Given the description of an element on the screen output the (x, y) to click on. 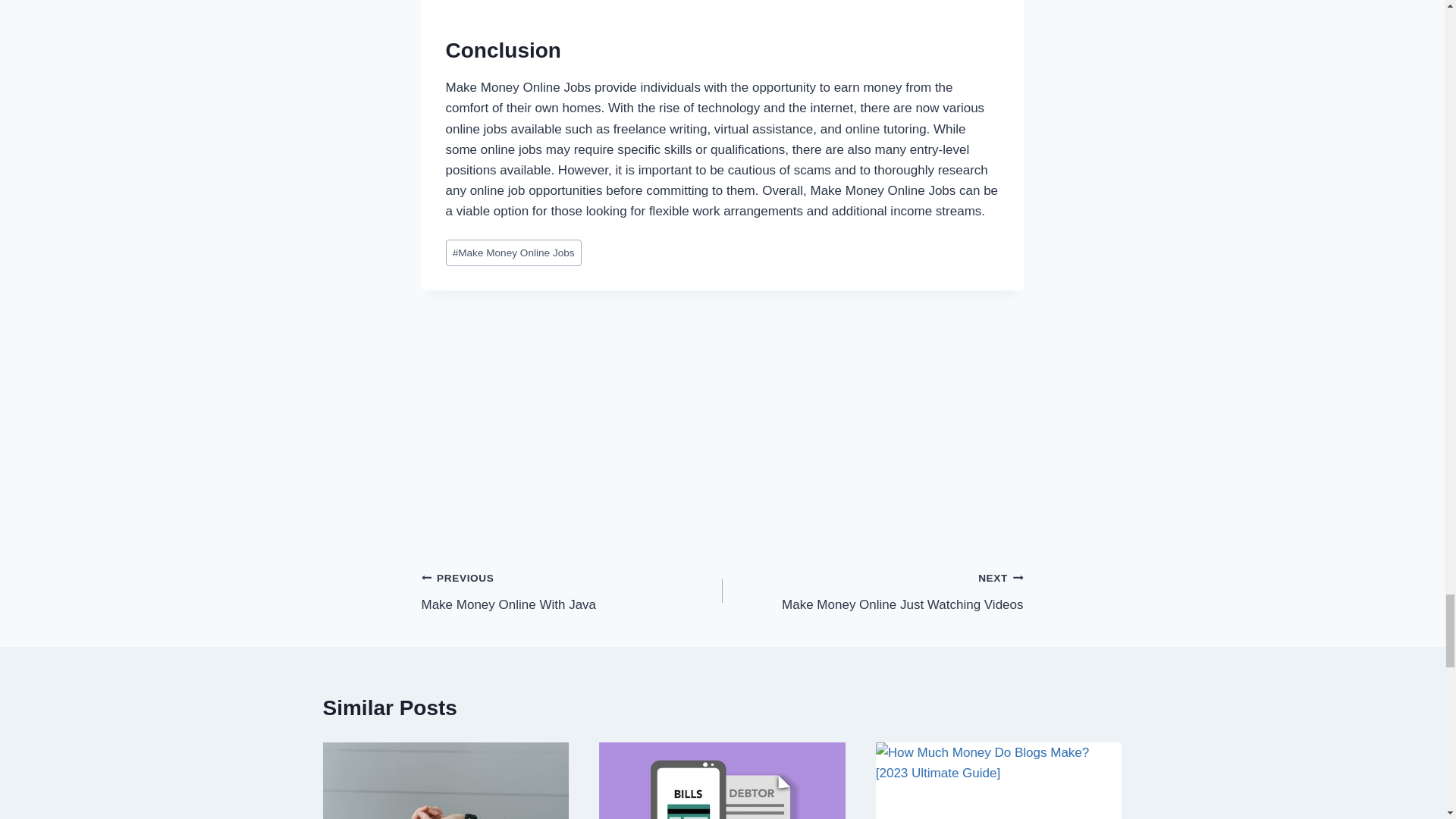
Make Money Online Jobs (872, 591)
How To Get Money From Selling Feet Pictures 3 (572, 591)
